Given the description of an element on the screen output the (x, y) to click on. 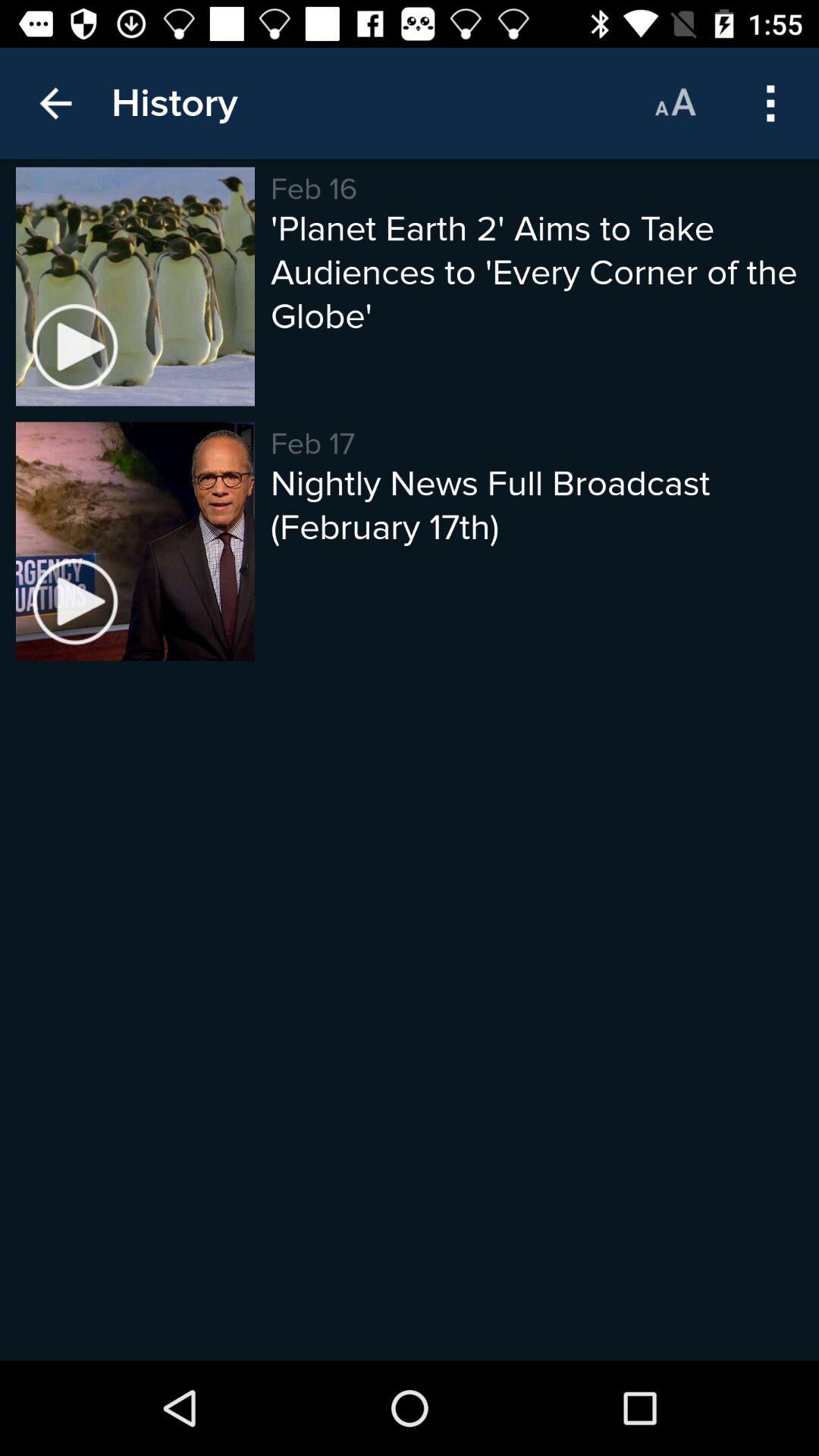
choose the item to the left of feb 16 item (174, 103)
